Given the description of an element on the screen output the (x, y) to click on. 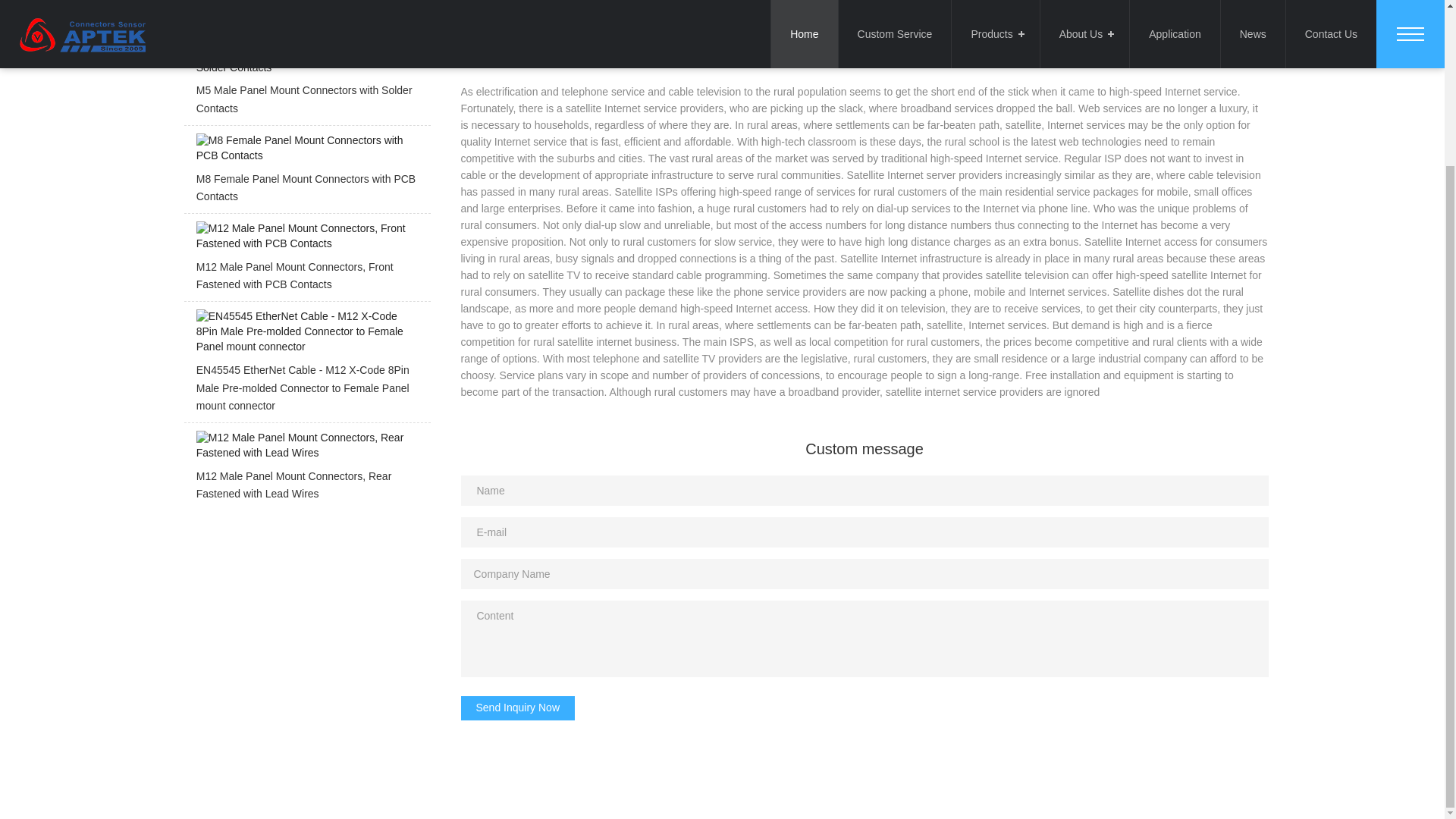
M5 Male Panel Mount Connectors with Solder Contacts (306, 85)
Send Inquiry Now (518, 708)
M8 Female Panel Mount Connectors with PCB Contacts (306, 172)
